Given the description of an element on the screen output the (x, y) to click on. 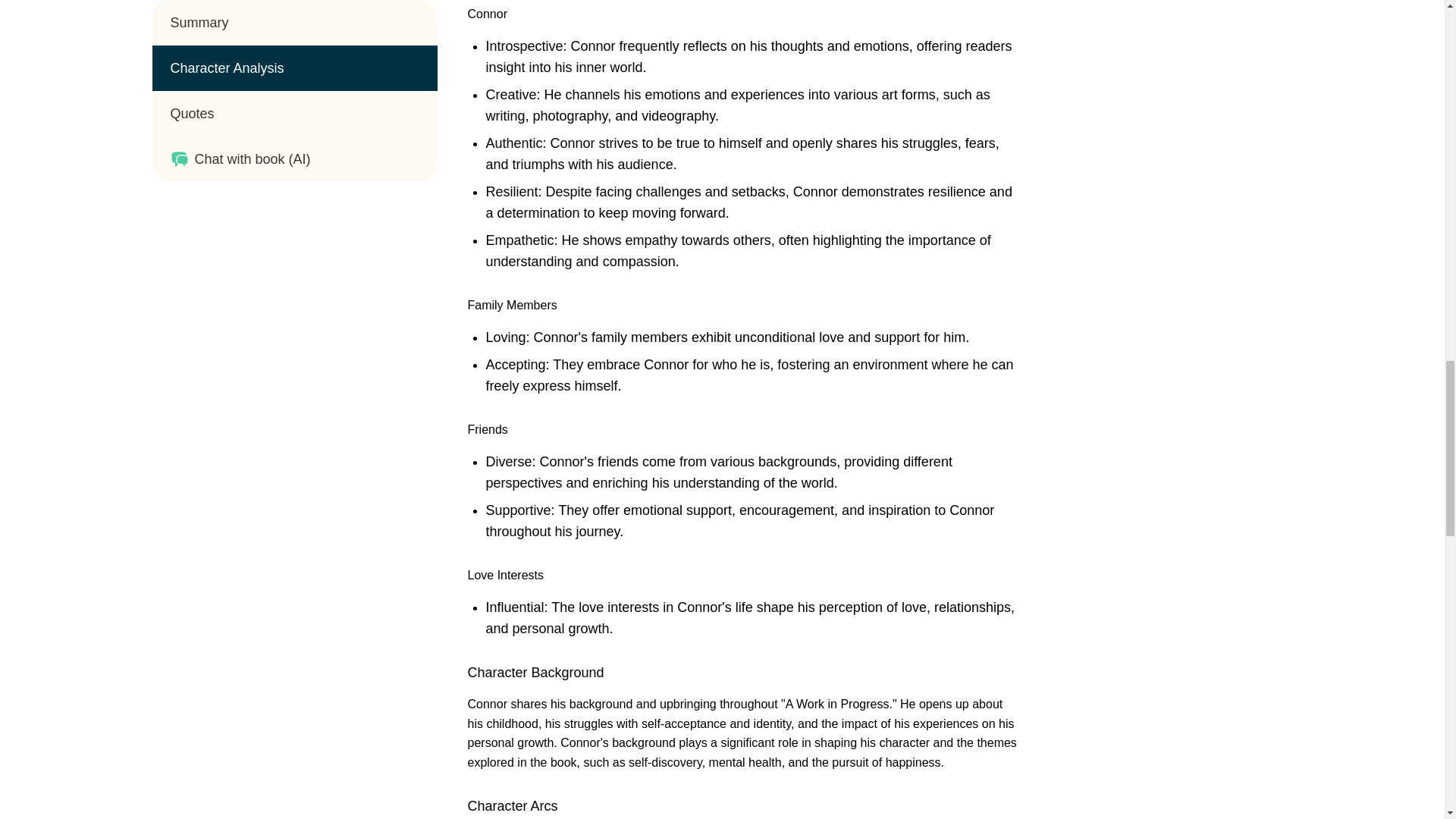
Connor (486, 13)
Friends (486, 429)
Character Background (535, 672)
Family Members (511, 305)
Love Interests (505, 574)
